Given the description of an element on the screen output the (x, y) to click on. 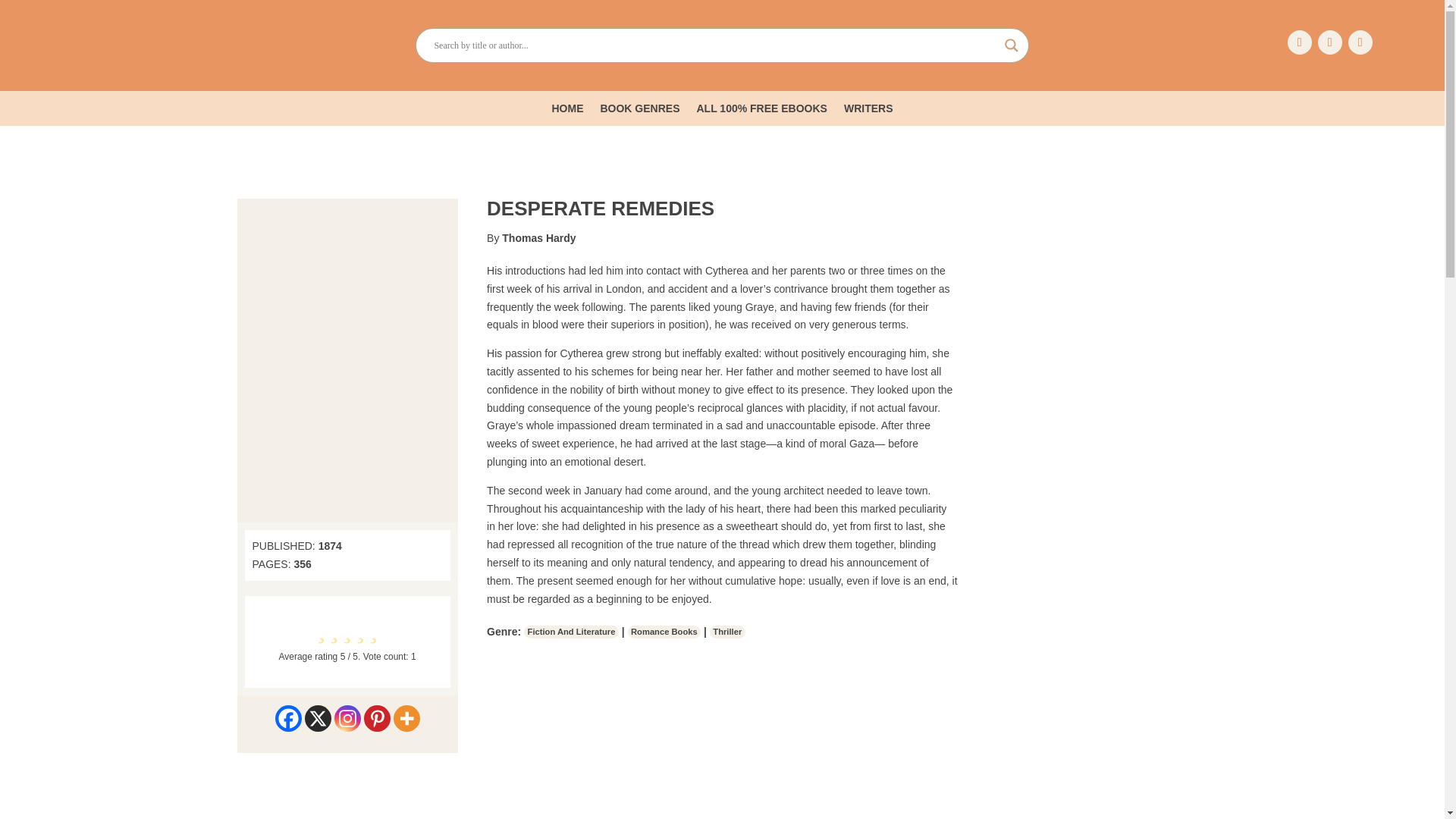
X (317, 718)
HOME (567, 111)
Evlum Free Online Ebooks (126, 45)
Thriller (727, 631)
Facebook (288, 718)
Pinterest (377, 718)
Follow on Facebook (1299, 42)
Instagram (347, 718)
More (406, 718)
Romance Books (664, 631)
